Given the description of an element on the screen output the (x, y) to click on. 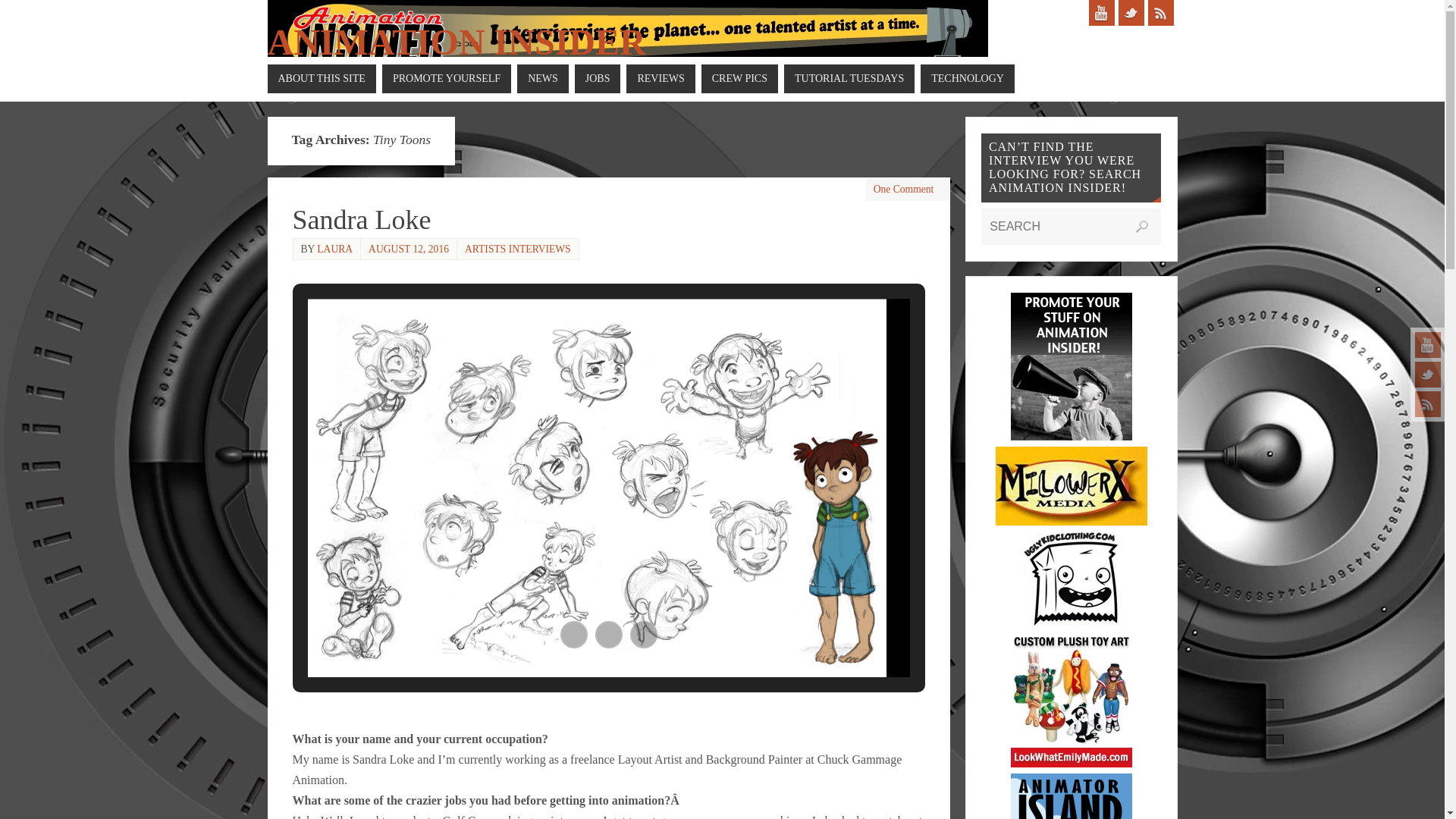
ANIMATION INSIDER (455, 42)
LAURA (334, 247)
PROMOTE YOURSELF (446, 78)
YouTube (1428, 344)
TUTORIAL TUESDAYS (849, 78)
RSS (1160, 12)
JOBS (598, 78)
One Comment (903, 188)
AUGUST 12, 2016 (408, 247)
